Given the description of an element on the screen output the (x, y) to click on. 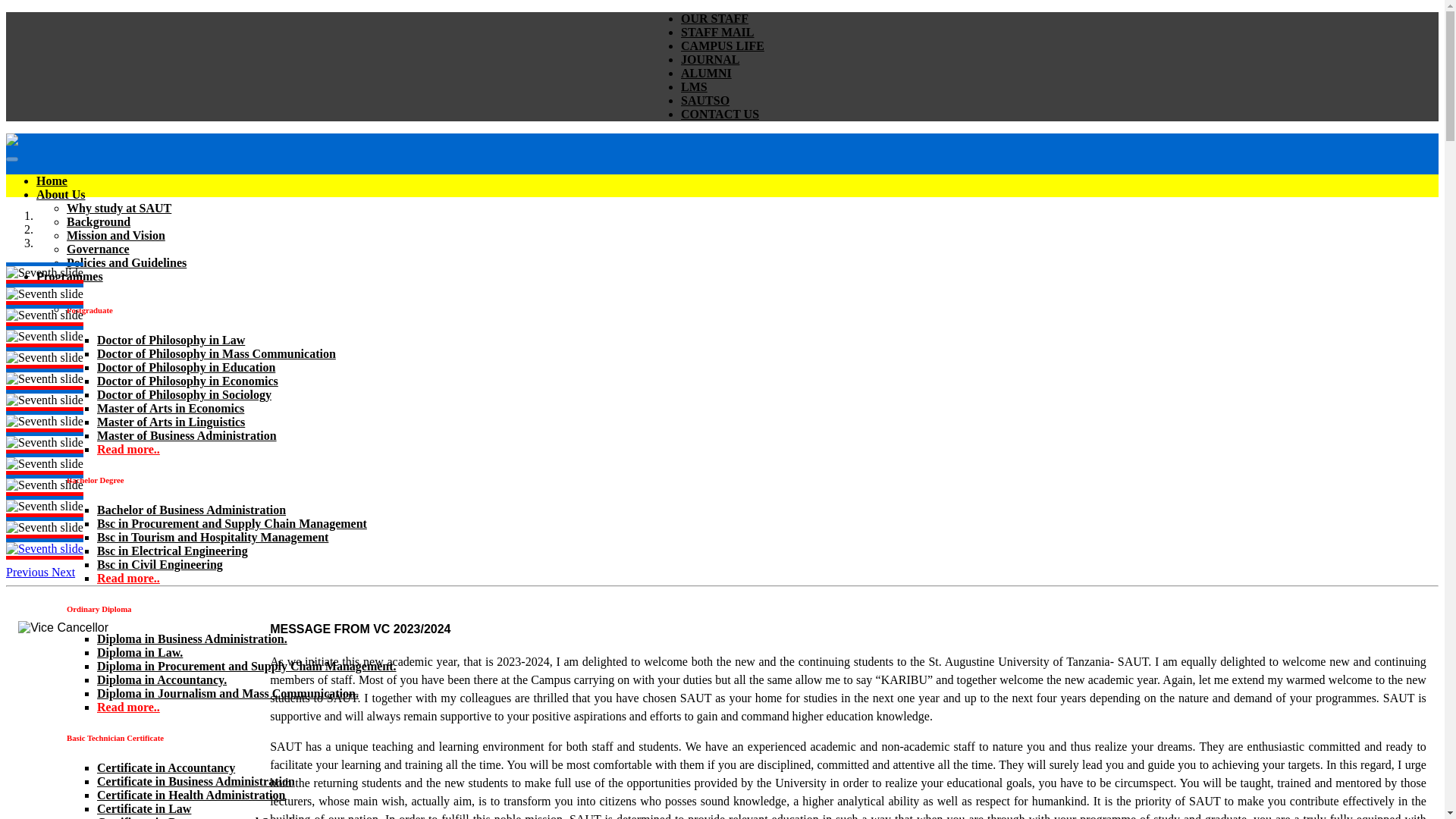
STAFF MAIL (717, 31)
Diploma in Journalism and Mass Communication. (227, 693)
Background (98, 221)
CONTACT US (719, 113)
Mission and Vision (115, 235)
ALUMNI (706, 72)
Master of Business Administration (186, 435)
OUR STAFF (714, 18)
Bachelor of Business Administration (191, 509)
About Us (60, 194)
CAMPUS LIFE (722, 45)
Master of Arts in Economics (170, 408)
Diploma in Law. (140, 652)
LMS (694, 86)
Doctor of Philosophy in Law (170, 339)
